Given the description of an element on the screen output the (x, y) to click on. 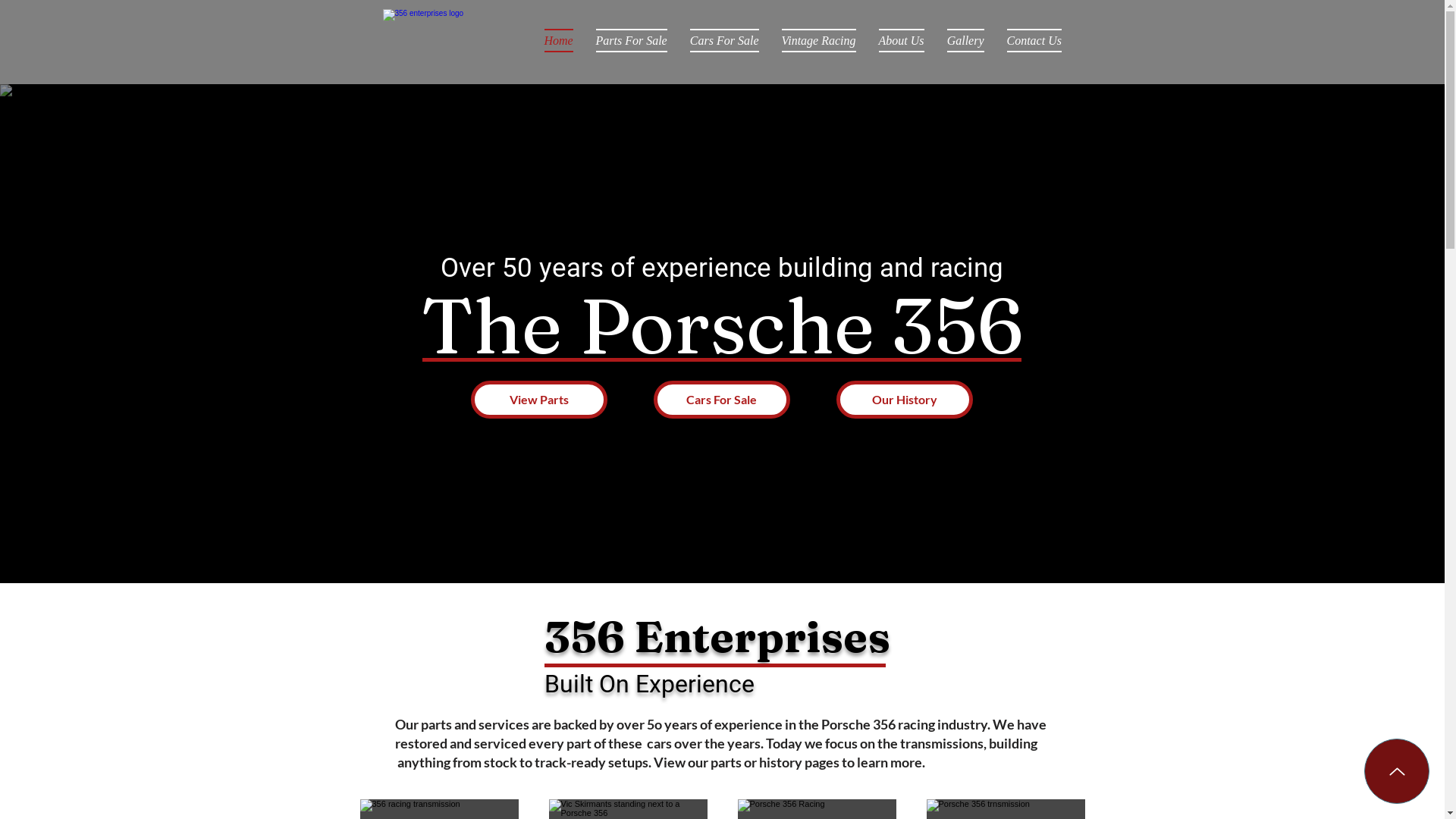
Our History Element type: text (903, 399)
Vintage Racing Element type: text (818, 40)
Cars For Sale Element type: text (721, 399)
Contact Us Element type: text (1027, 40)
About Us Element type: text (901, 40)
View Parts Element type: text (538, 399)
Cars For Sale Element type: text (723, 40)
Home Element type: text (557, 40)
Gallery Element type: text (965, 40)
